Given the description of an element on the screen output the (x, y) to click on. 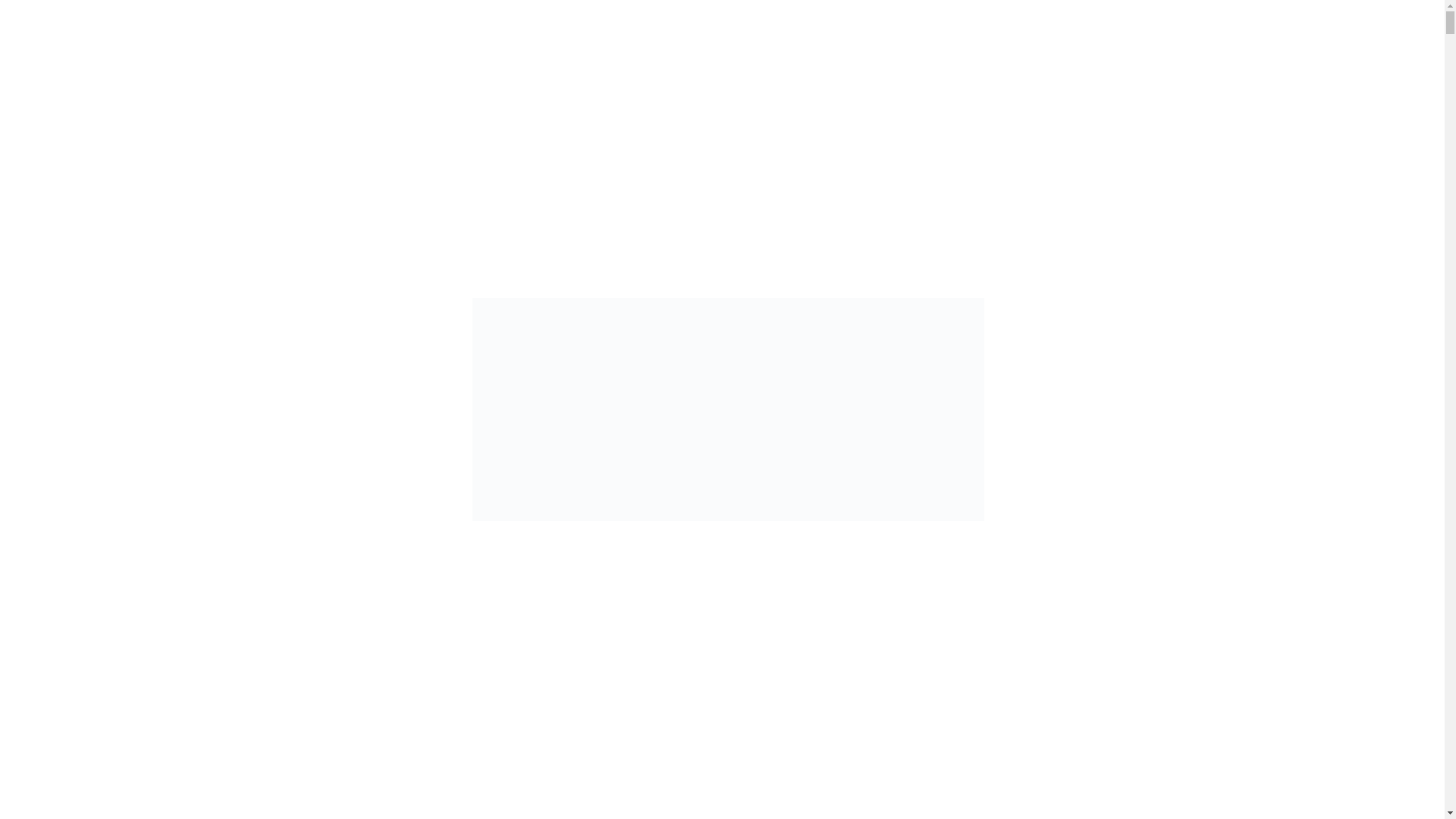
BLOG (1018, 86)
INFO (229, 86)
HOME (122, 86)
CONTACT (1308, 86)
PORTFOLIOS (361, 86)
OTHER LINKS (1156, 86)
